Given the description of an element on the screen output the (x, y) to click on. 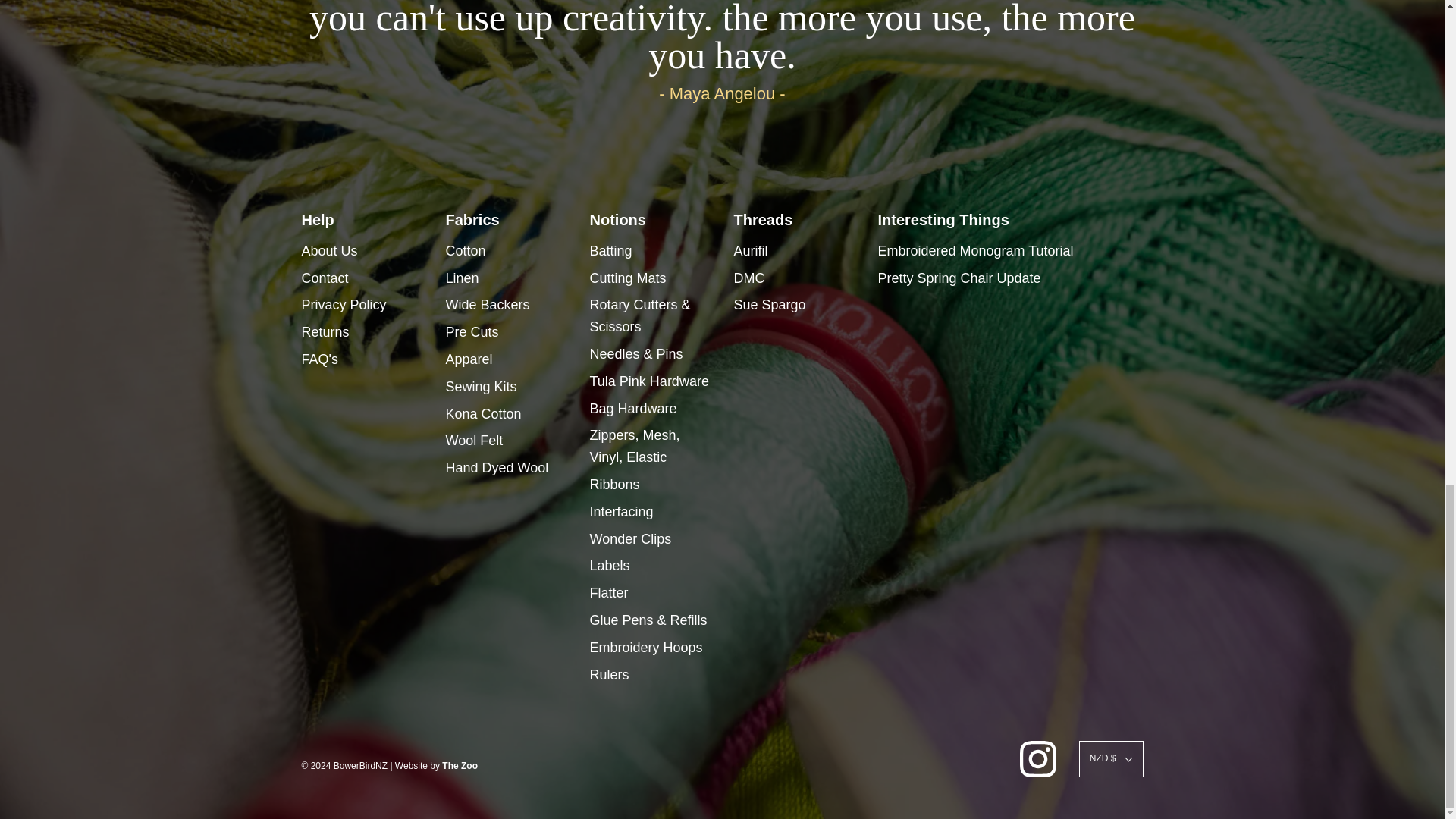
Instagram icon (1038, 759)
